Given the description of an element on the screen output the (x, y) to click on. 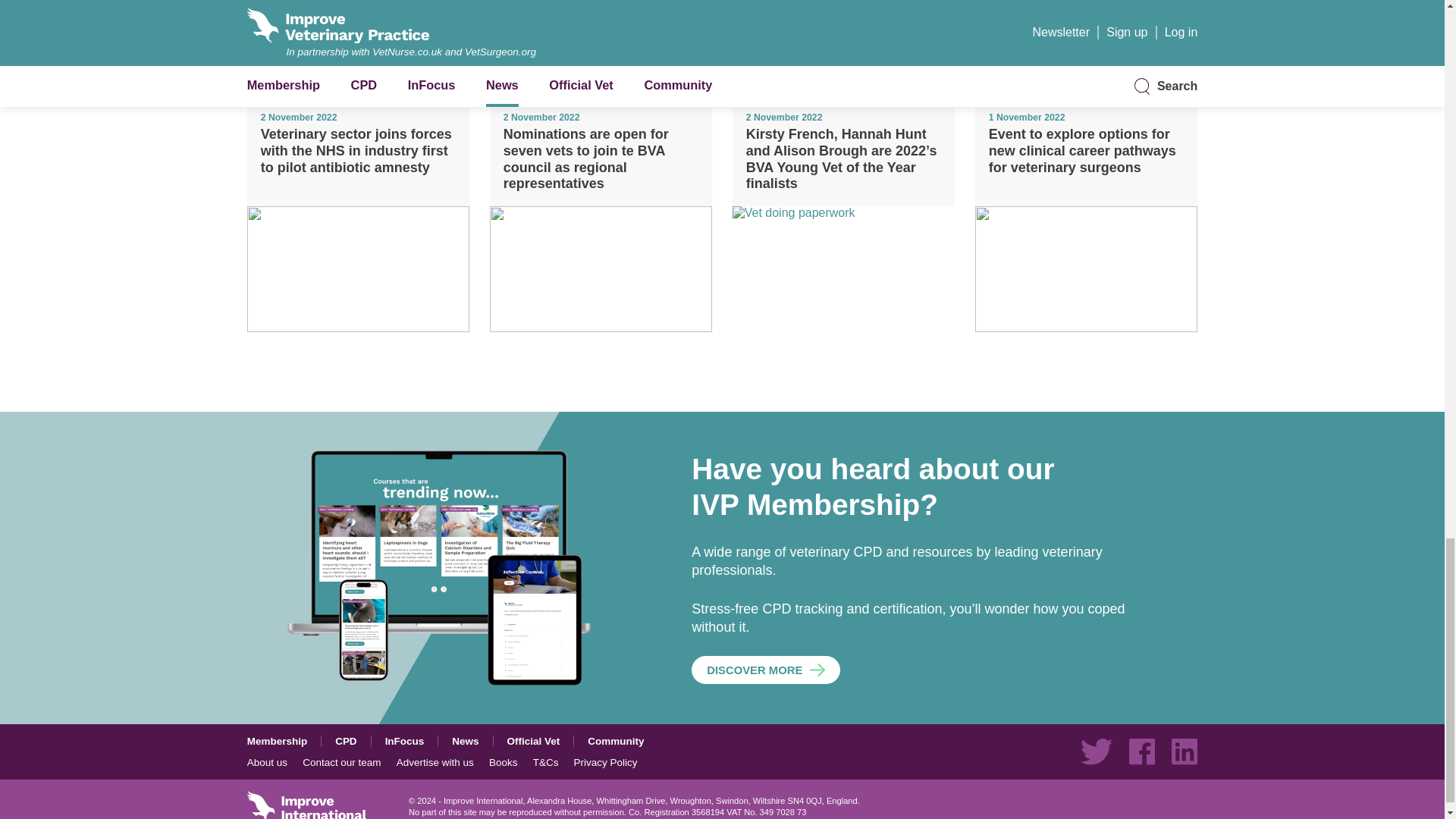
Veterinary Practice on LinkedIn (1184, 751)
Veterinary Practice on Facebook (1141, 751)
Veterinary Practice on Twitter (1096, 751)
